Given the description of an element on the screen output the (x, y) to click on. 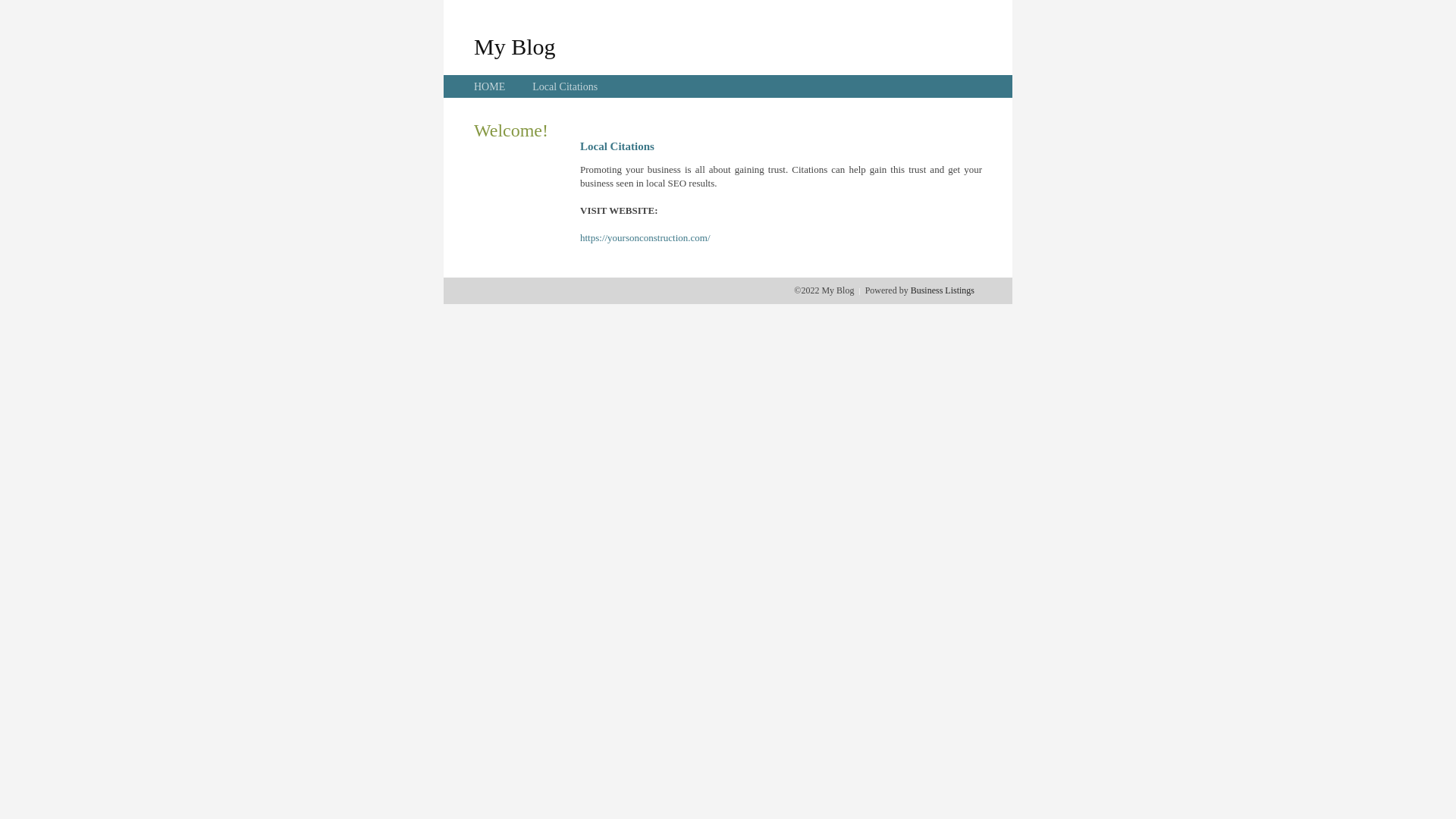
https://yoursonconstruction.com/ Element type: text (645, 237)
My Blog Element type: text (514, 46)
Local Citations Element type: text (564, 86)
HOME Element type: text (489, 86)
Business Listings Element type: text (942, 290)
